Given the description of an element on the screen output the (x, y) to click on. 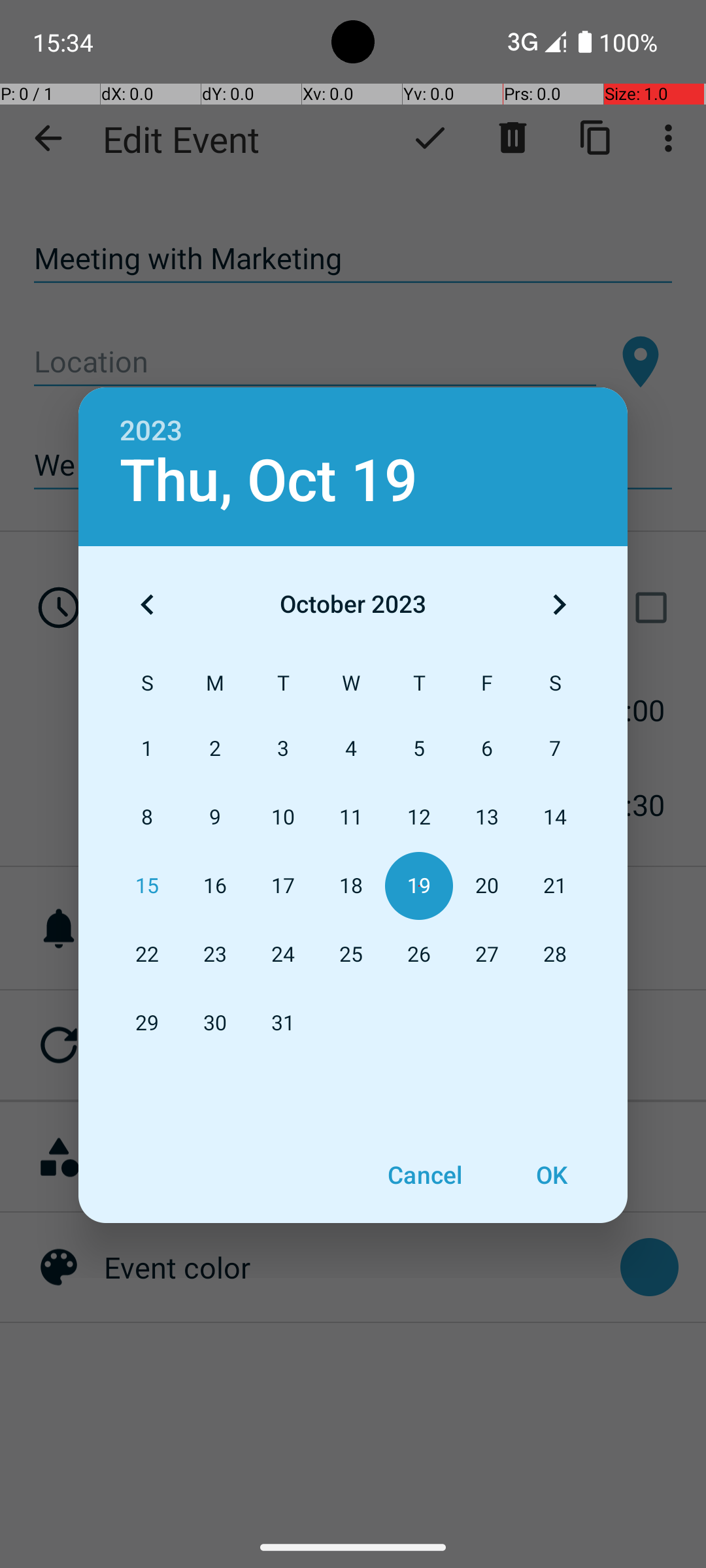
Thu, Oct 19 Element type: android.widget.TextView (268, 480)
